Given the description of an element on the screen output the (x, y) to click on. 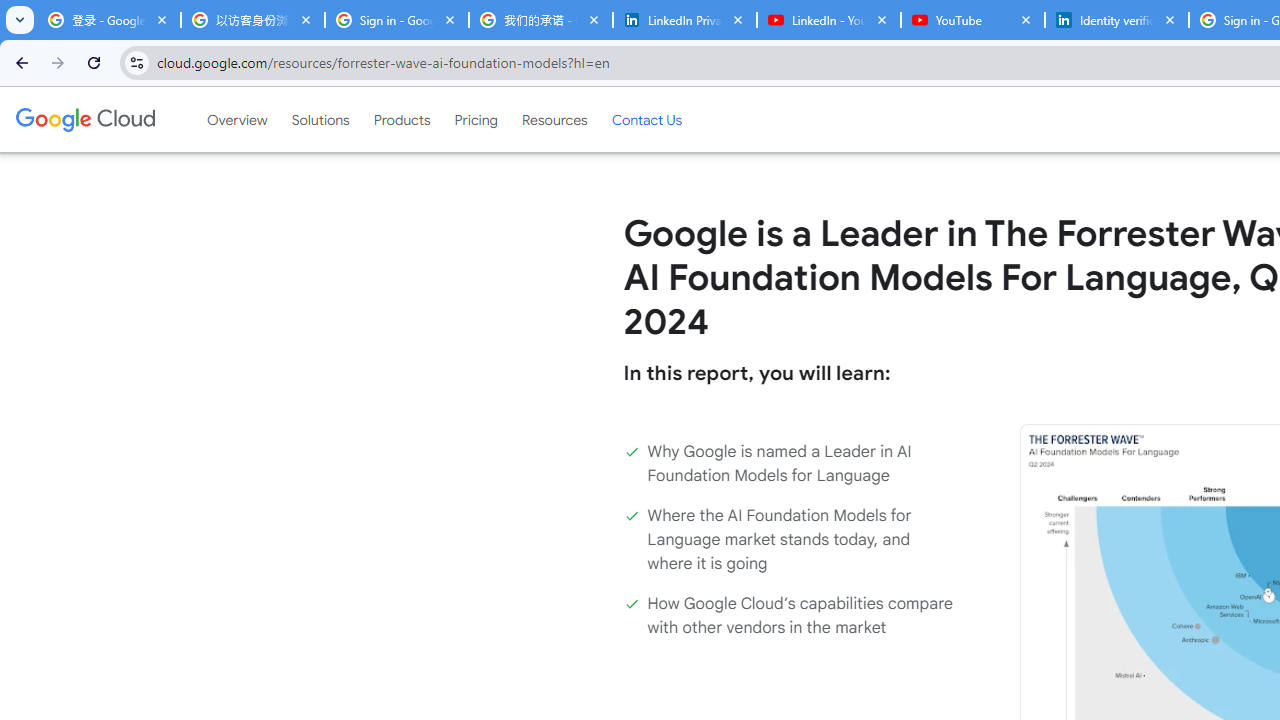
Pricing (476, 119)
LinkedIn Privacy Policy (684, 20)
Products (401, 119)
Resources (553, 119)
Contact Us (646, 119)
Sign in - Google Accounts (396, 20)
LinkedIn - YouTube (828, 20)
